Given the description of an element on the screen output the (x, y) to click on. 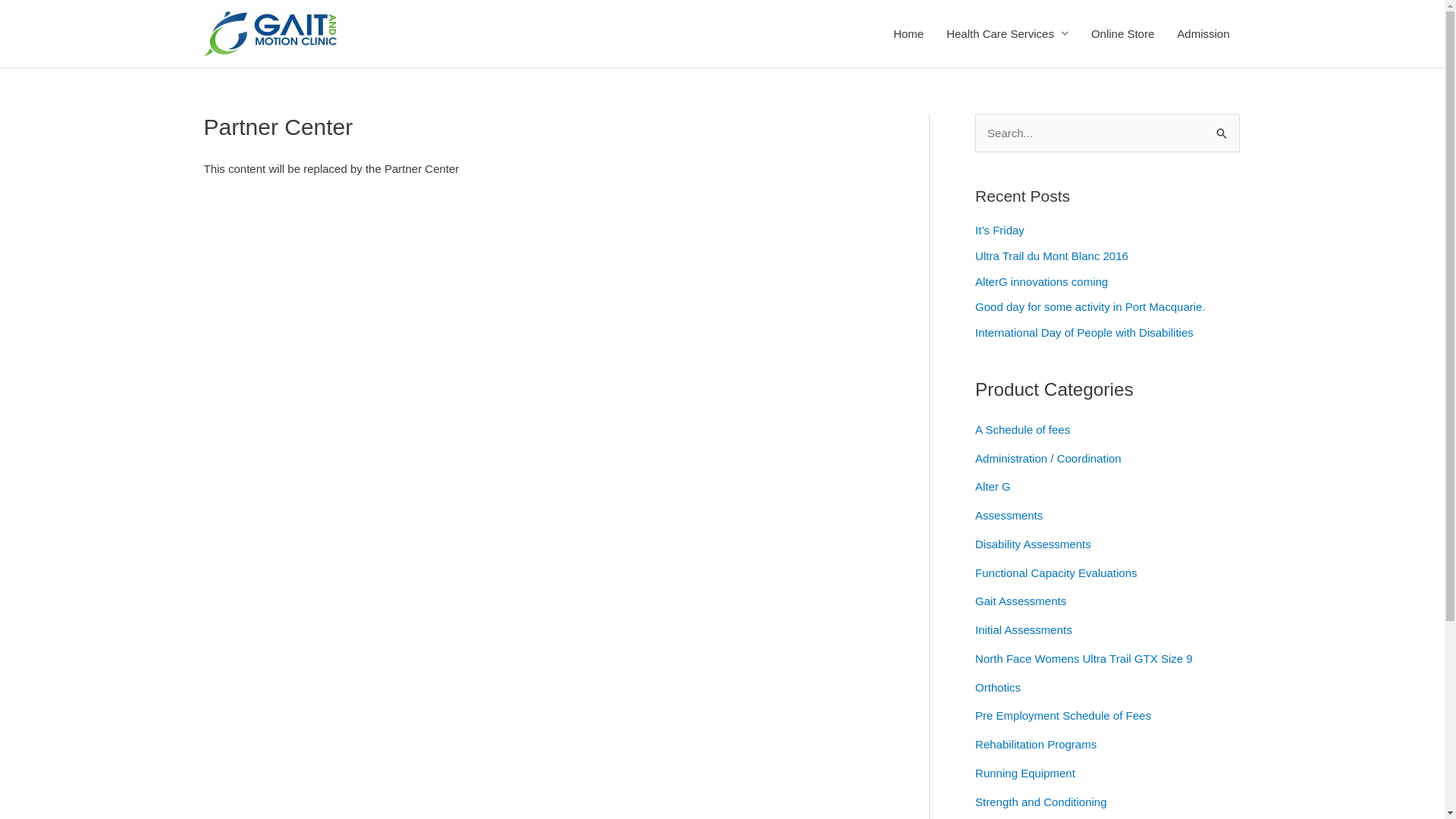
Strength and Conditioning Element type: text (1040, 801)
Search Element type: text (1222, 133)
Orthotics Element type: text (997, 686)
Health Care Services Element type: text (1007, 33)
Initial Assessments Element type: text (1023, 629)
Pre Employment Schedule of Fees Element type: text (1063, 715)
Disability Assessments Element type: text (1033, 543)
Running Equipment Element type: text (1025, 772)
Admission Element type: text (1202, 33)
Assessments Element type: text (1008, 514)
Ultra Trail du Mont Blanc 2016 Element type: text (1051, 255)
A Schedule of fees Element type: text (1022, 429)
AlterG innovations coming Element type: text (1041, 281)
North Face Womens Ultra Trail GTX Size 9 Element type: text (1083, 658)
Online Store Element type: text (1122, 33)
Alter G Element type: text (992, 486)
Rehabilitation Programs Element type: text (1035, 743)
Gait Assessments Element type: text (1020, 600)
International Day of People with Disabilities Element type: text (1084, 332)
Administration / Coordination Element type: text (1048, 457)
Functional Capacity Evaluations Element type: text (1055, 572)
Good day for some activity in Port Macquarie. Element type: text (1089, 306)
Home Element type: text (908, 33)
